Given the description of an element on the screen output the (x, y) to click on. 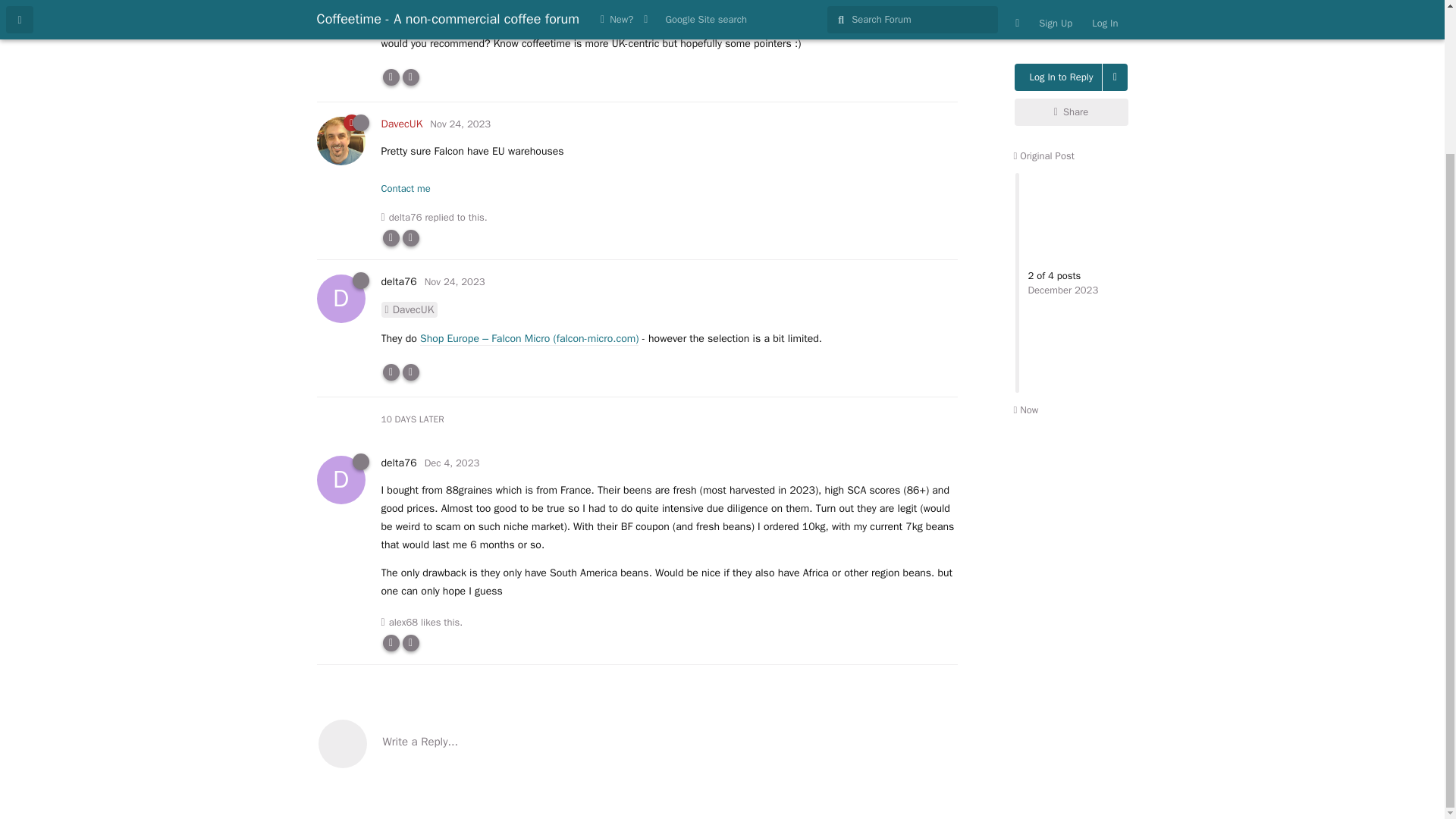
Nov 24, 2023 (454, 2)
Now (1025, 338)
Original Post (1043, 84)
Monday, December 4, 2023 5:03 AM (452, 462)
delta76 (405, 217)
Friday, November 24, 2023 3:05 AM (454, 281)
Nov 24, 2023 (459, 123)
Friday, November 24, 2023 2:34 AM (459, 123)
Log In to Reply (1058, 10)
Share (1071, 41)
